Given the description of an element on the screen output the (x, y) to click on. 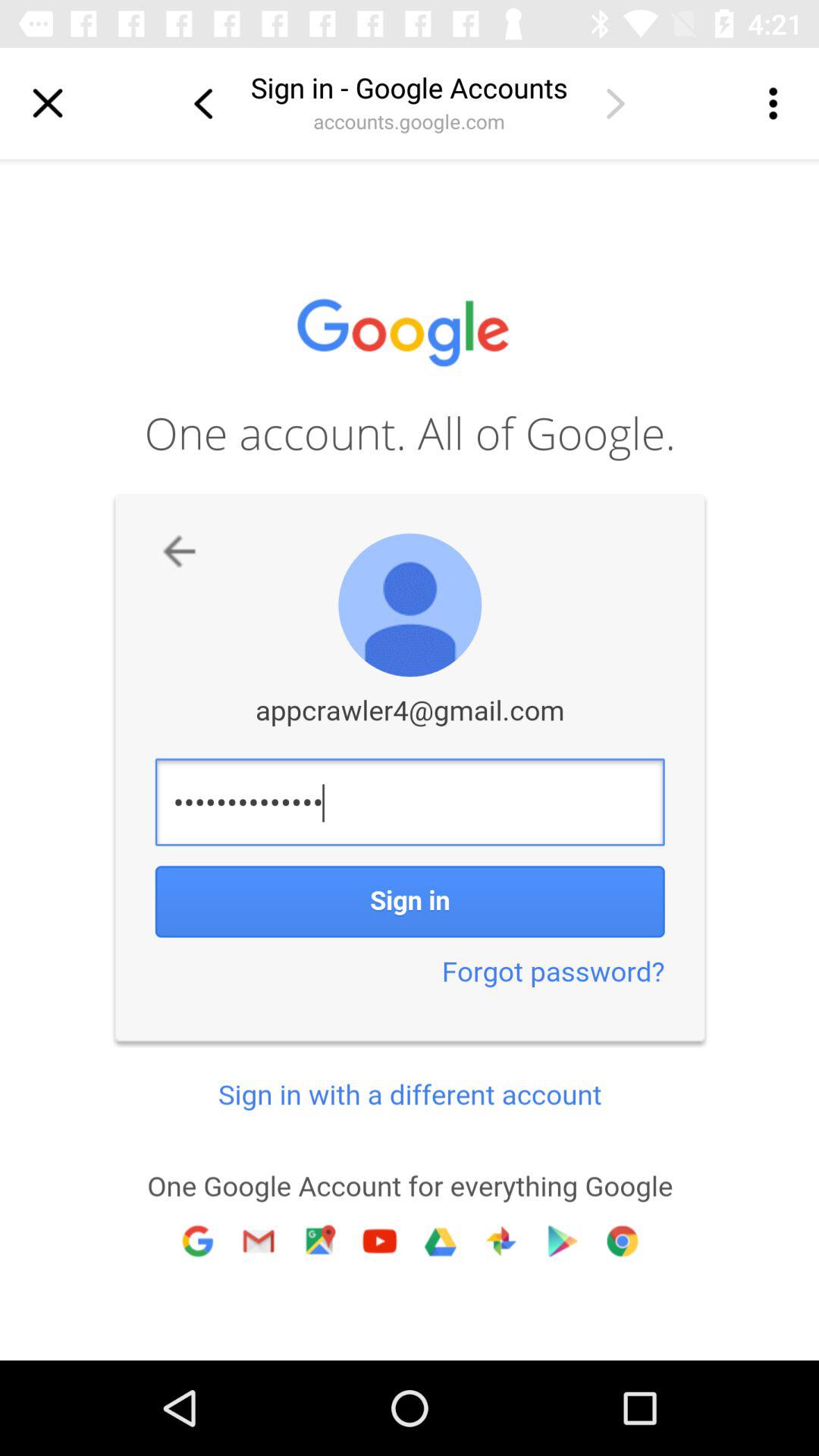
go back (202, 103)
